Given the description of an element on the screen output the (x, y) to click on. 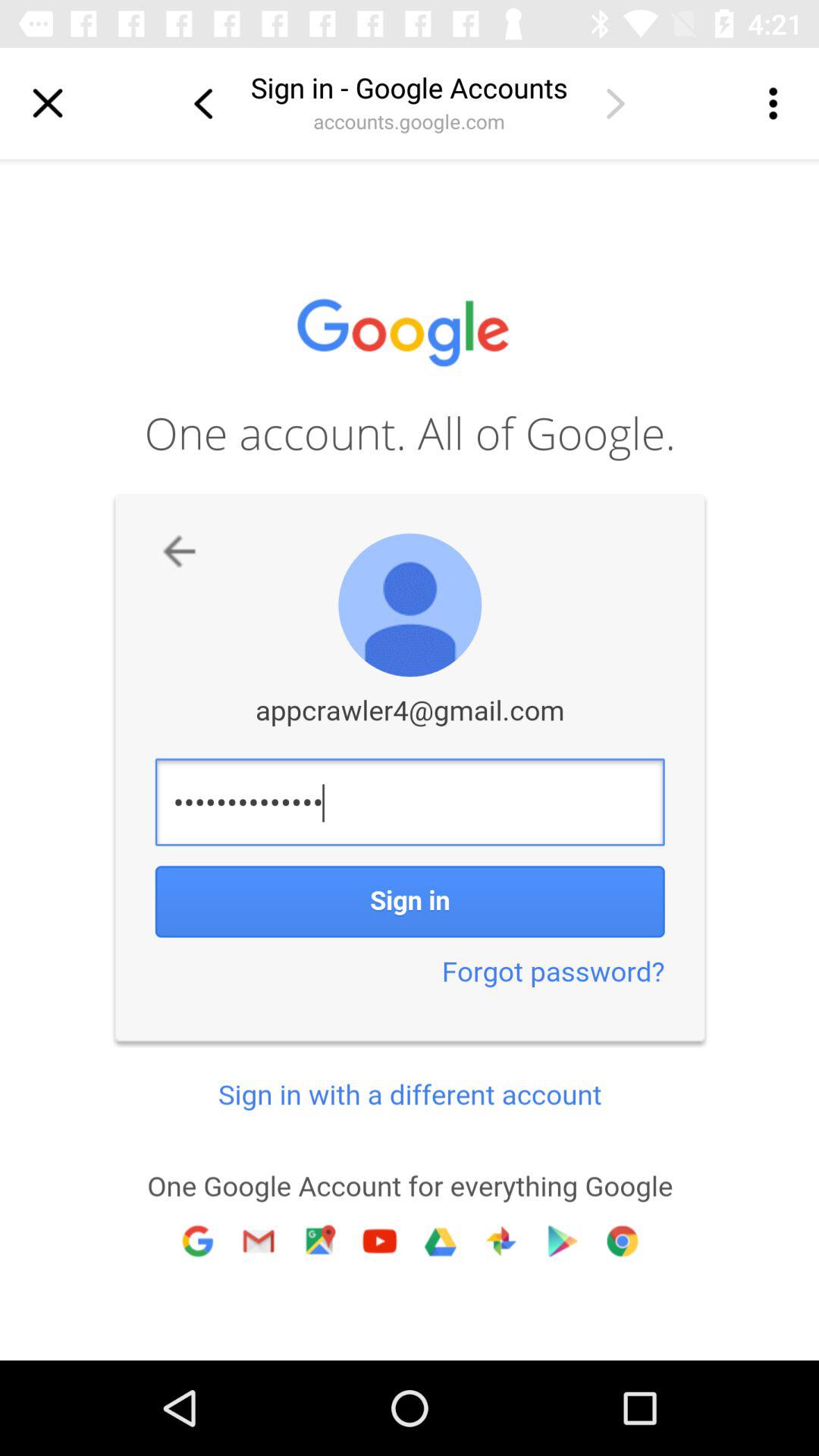
go back (202, 103)
